Given the description of an element on the screen output the (x, y) to click on. 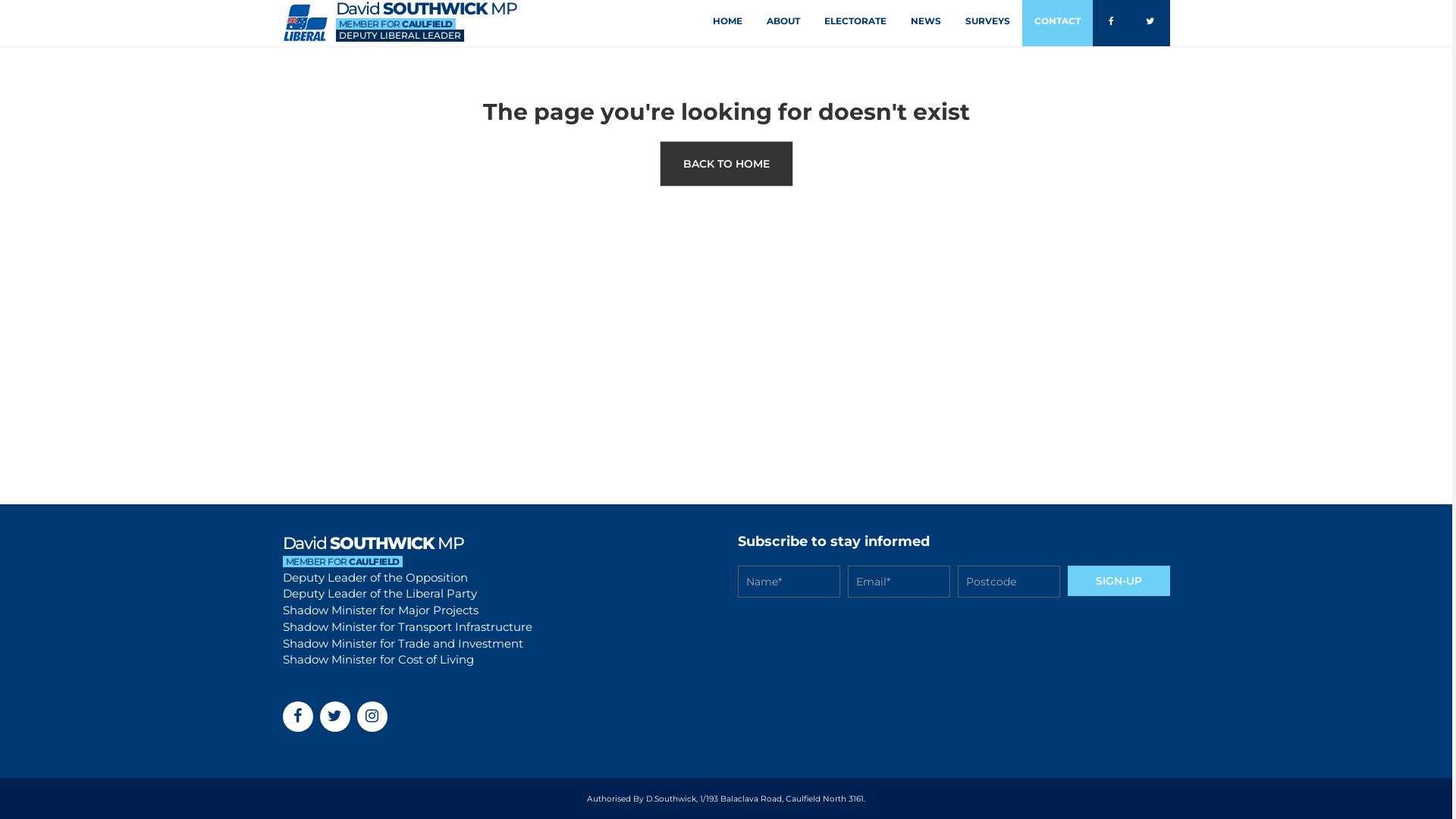
ELECTORATE Element type: text (854, 23)
NEWS Element type: text (925, 23)
SIGN-UP Element type: text (1118, 580)
ABOUT Element type: text (783, 23)
CONTACT Element type: text (1056, 23)
SURVEYS Element type: text (987, 23)
HOME Element type: text (726, 23)
BACK TO HOME Element type: text (726, 164)
